Given the description of an element on the screen output the (x, y) to click on. 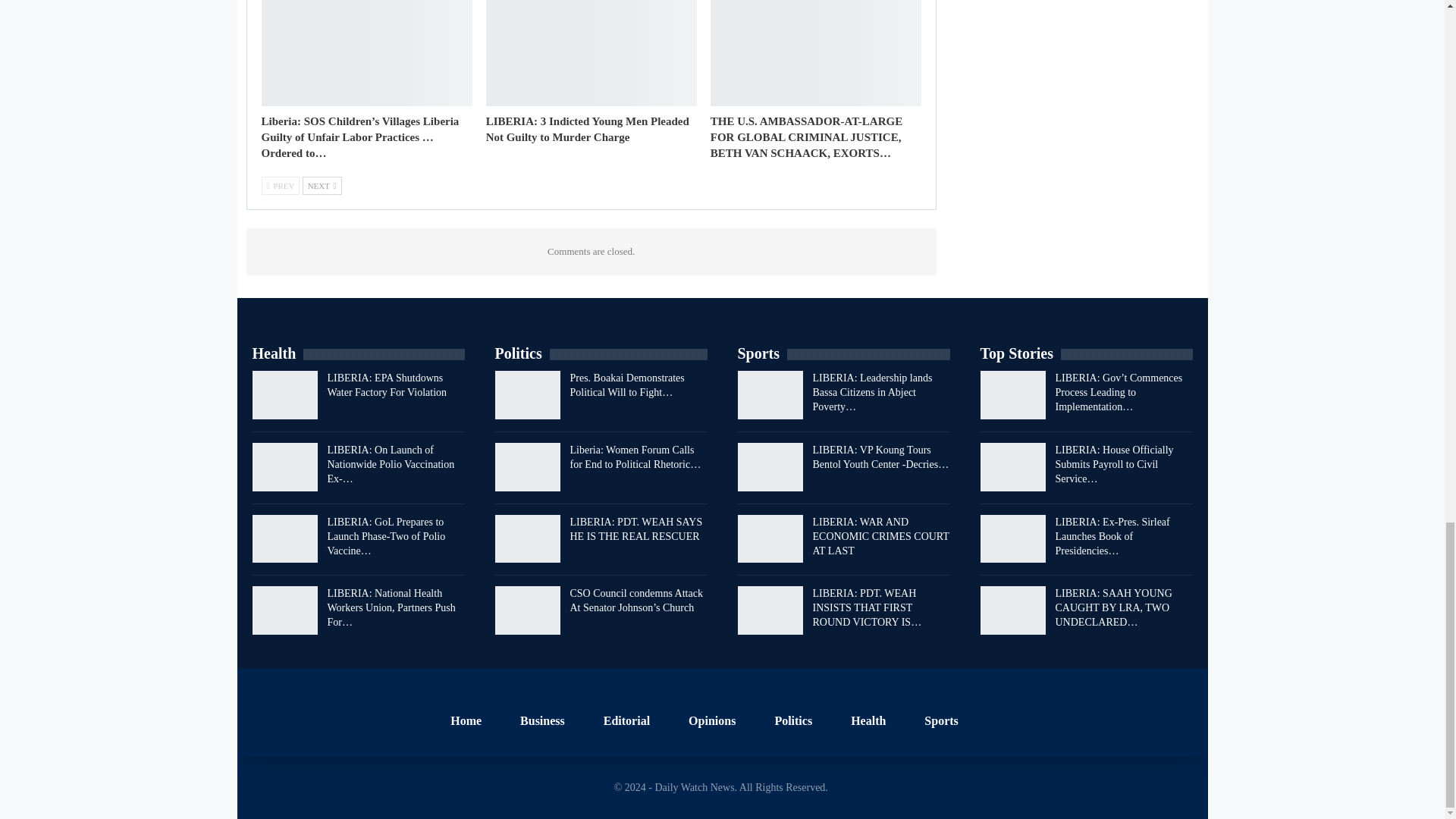
Next (322, 185)
Previous (279, 185)
